Given the description of an element on the screen output the (x, y) to click on. 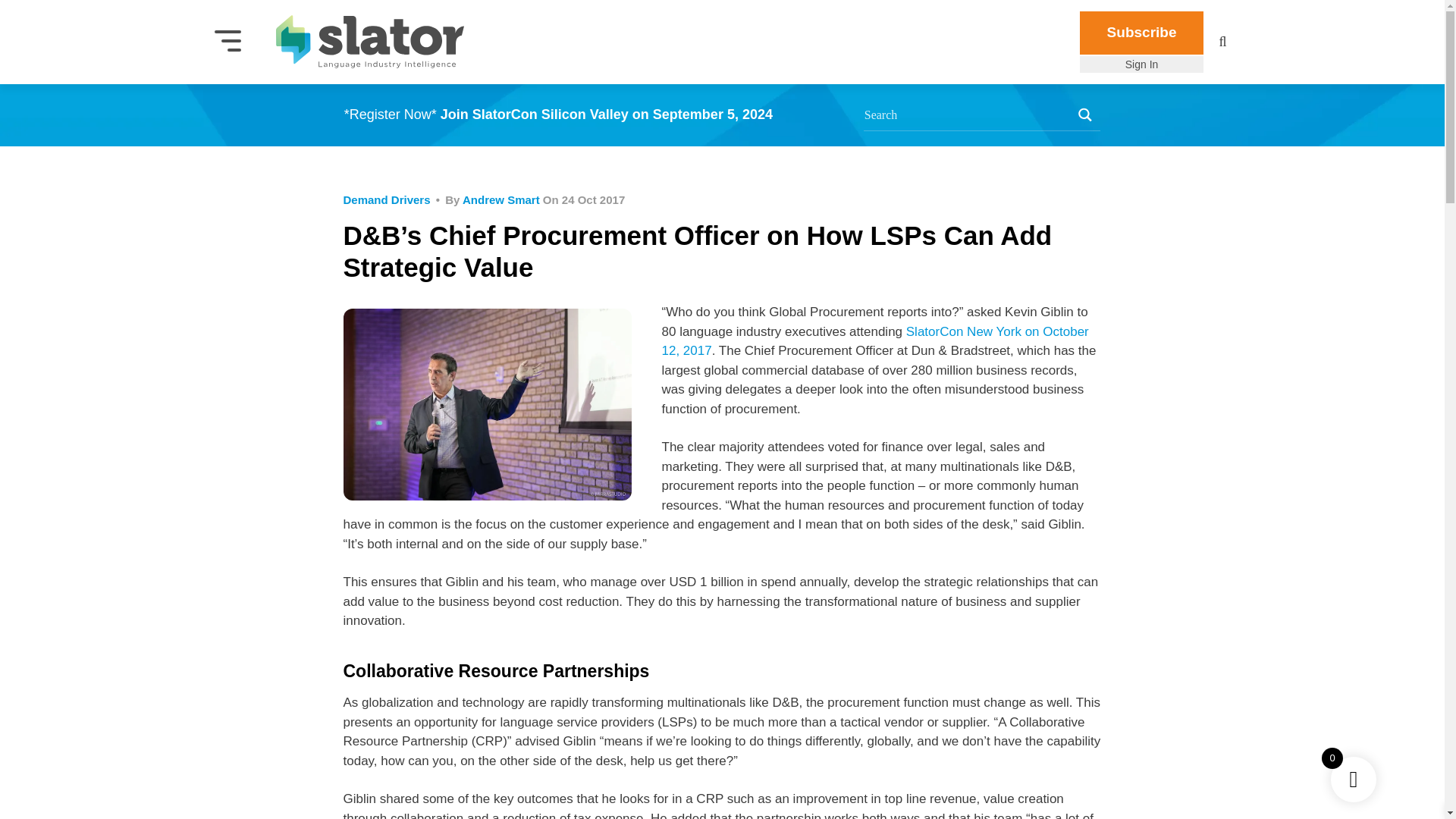
Sign In (1142, 64)
Subscribe (1142, 32)
